Given the description of an element on the screen output the (x, y) to click on. 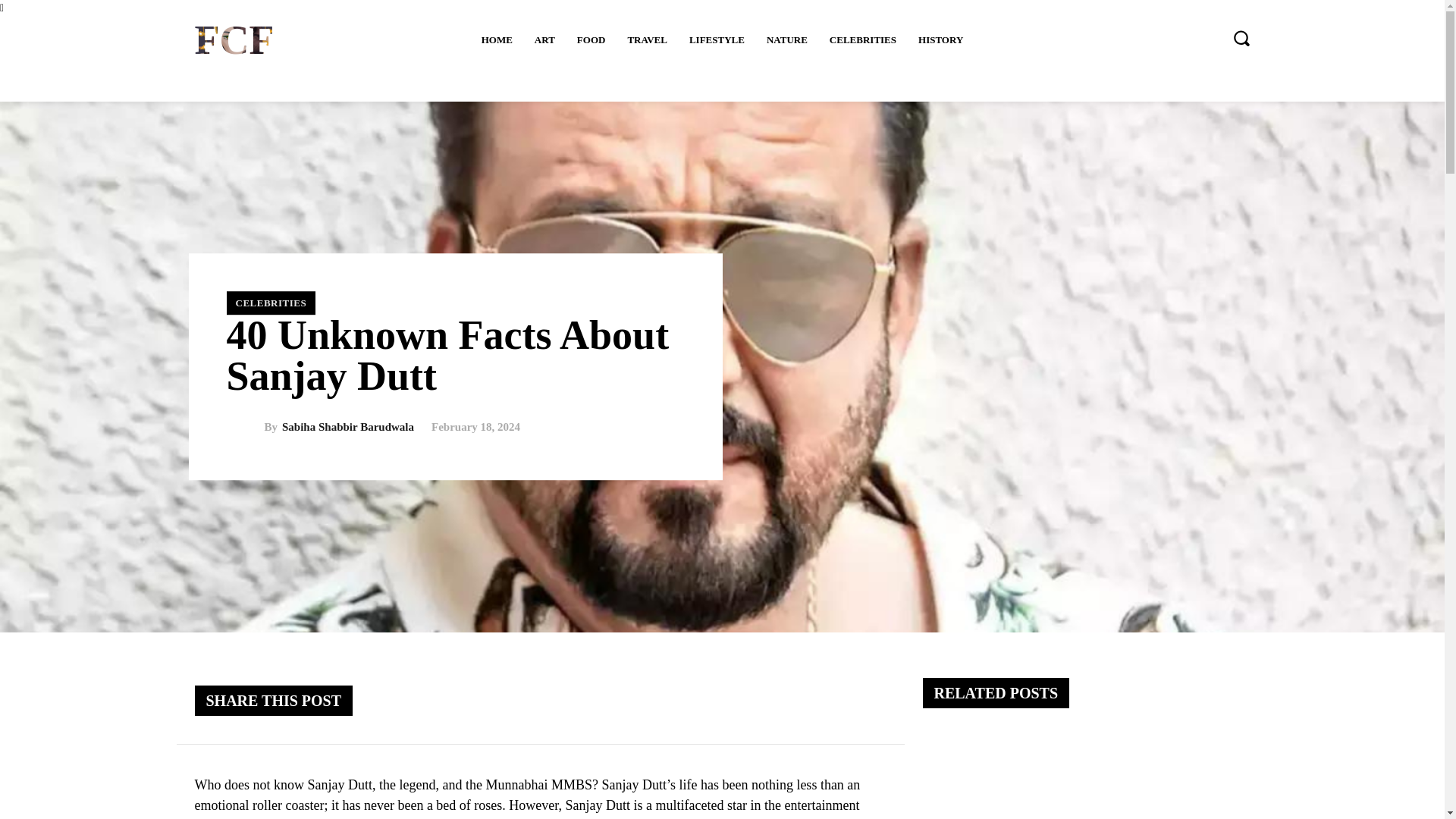
15 Facts About the Color Red (1170, 774)
FCF (233, 40)
25 Facts about Mysore (1000, 774)
CELEBRITIES (863, 39)
NATURE (786, 39)
CELEBRITIES (270, 303)
LIFESTYLE (716, 39)
ART (544, 39)
HOME (496, 39)
Sabiha Shabbir Barudwala (347, 427)
Sabiha Shabbir Barudwala (244, 427)
HISTORY (940, 39)
TRAVEL (647, 39)
FOOD (590, 39)
